Given the description of an element on the screen output the (x, y) to click on. 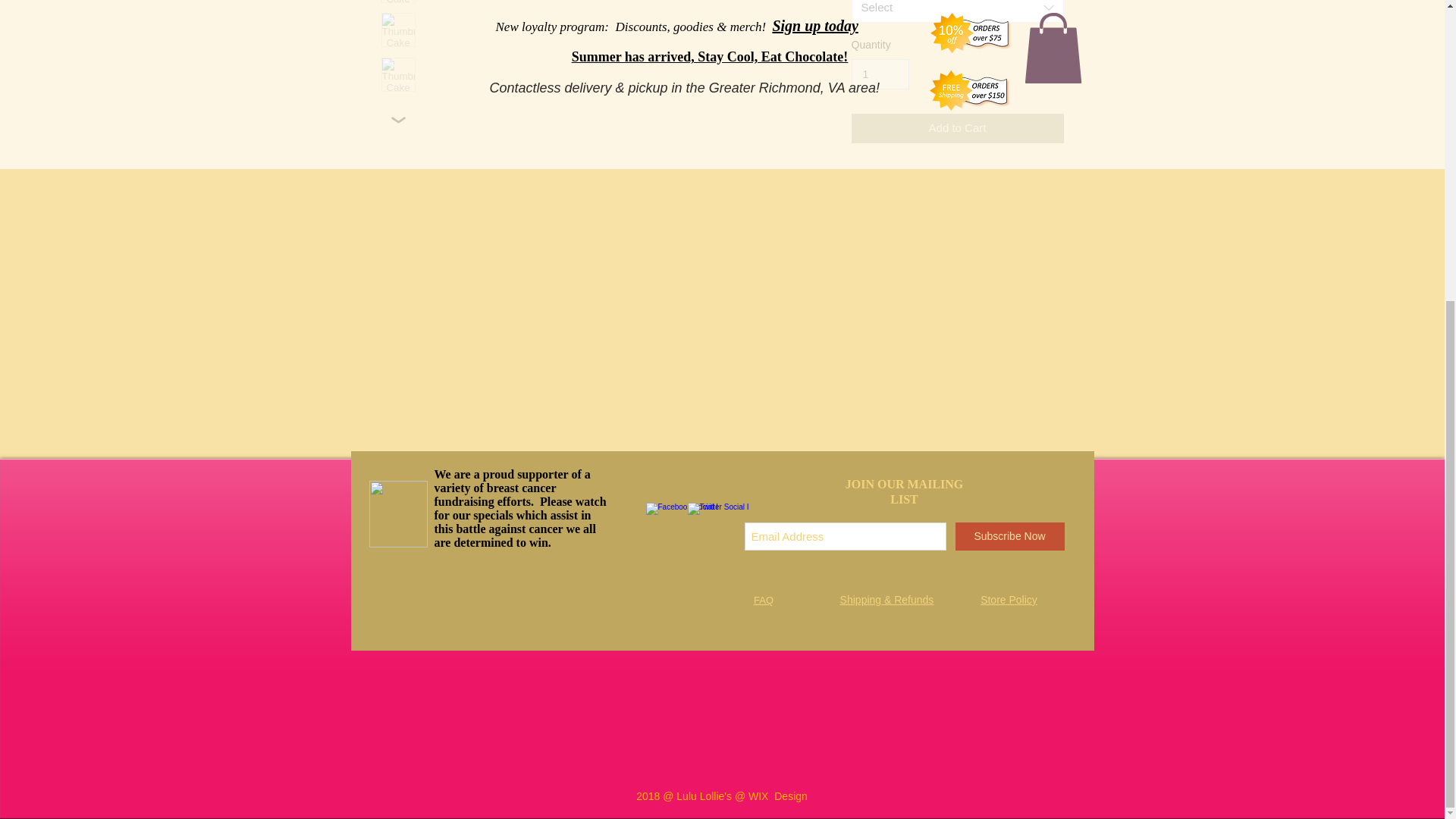
Select (956, 11)
1 (879, 74)
Add to Cart (956, 128)
